Given the description of an element on the screen output the (x, y) to click on. 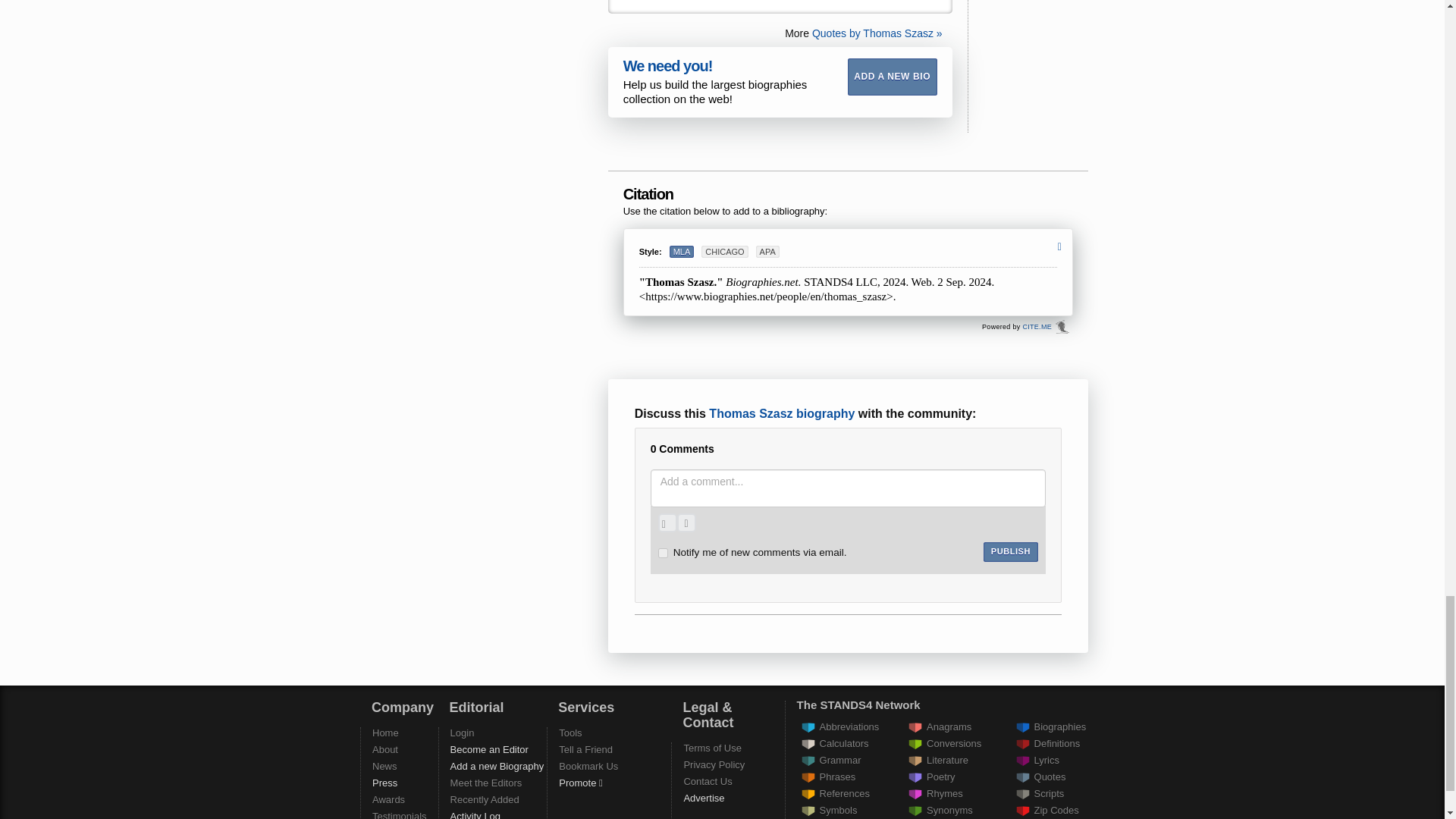
on (663, 552)
Record a sound (686, 522)
Cite.Me (1036, 326)
Cite.Me (1061, 326)
Upload an image (667, 522)
Cite.Me (1062, 326)
